Given the description of an element on the screen output the (x, y) to click on. 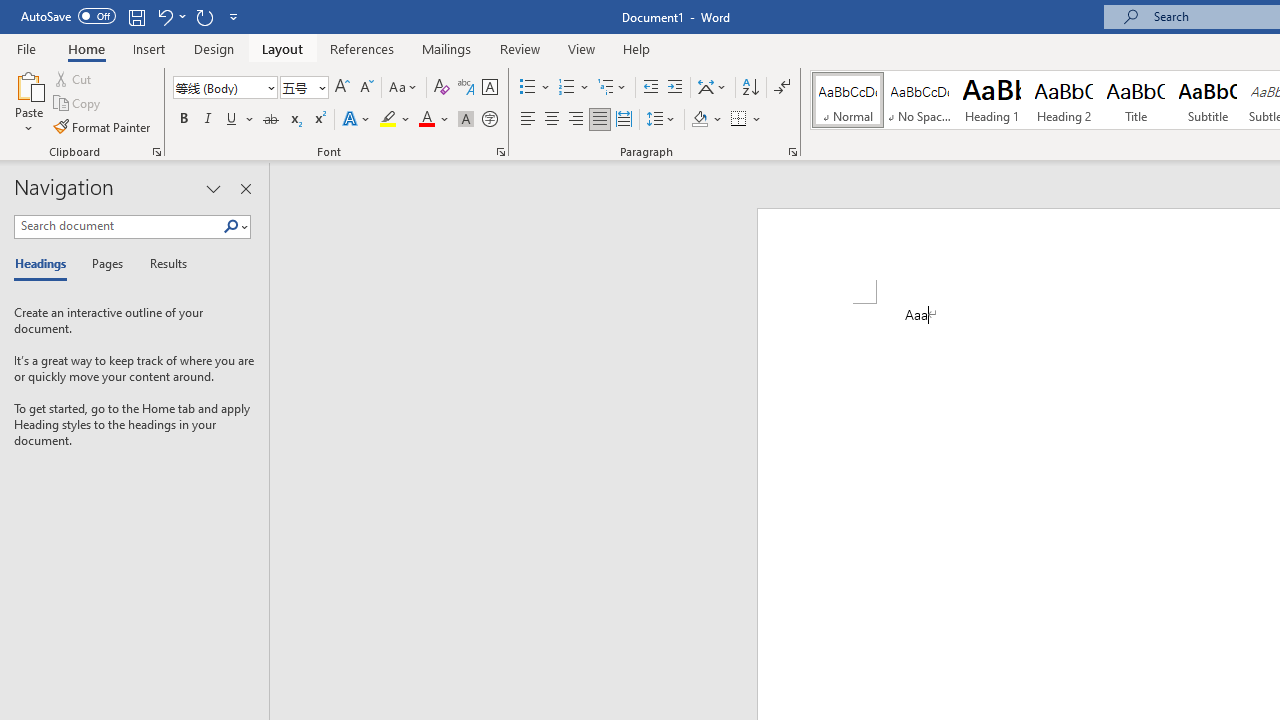
Results (161, 264)
Subscript (294, 119)
Pages (105, 264)
Multilevel List (613, 87)
Align Left (527, 119)
